Given the description of an element on the screen output the (x, y) to click on. 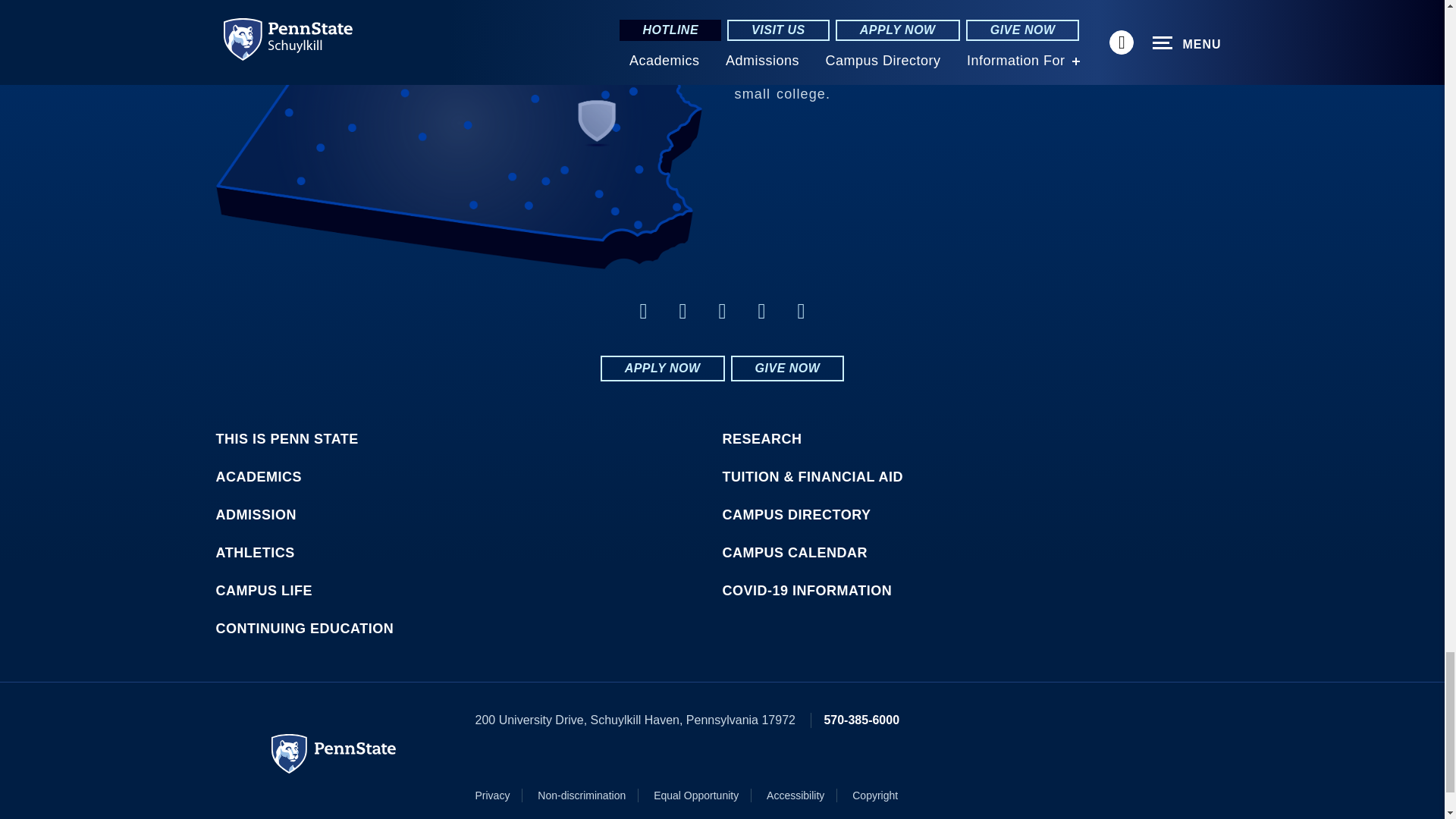
instagram (800, 310)
Penn State University (333, 753)
linkedin (682, 310)
twitter (721, 310)
youtube (761, 310)
facebook (642, 310)
